Given the description of an element on the screen output the (x, y) to click on. 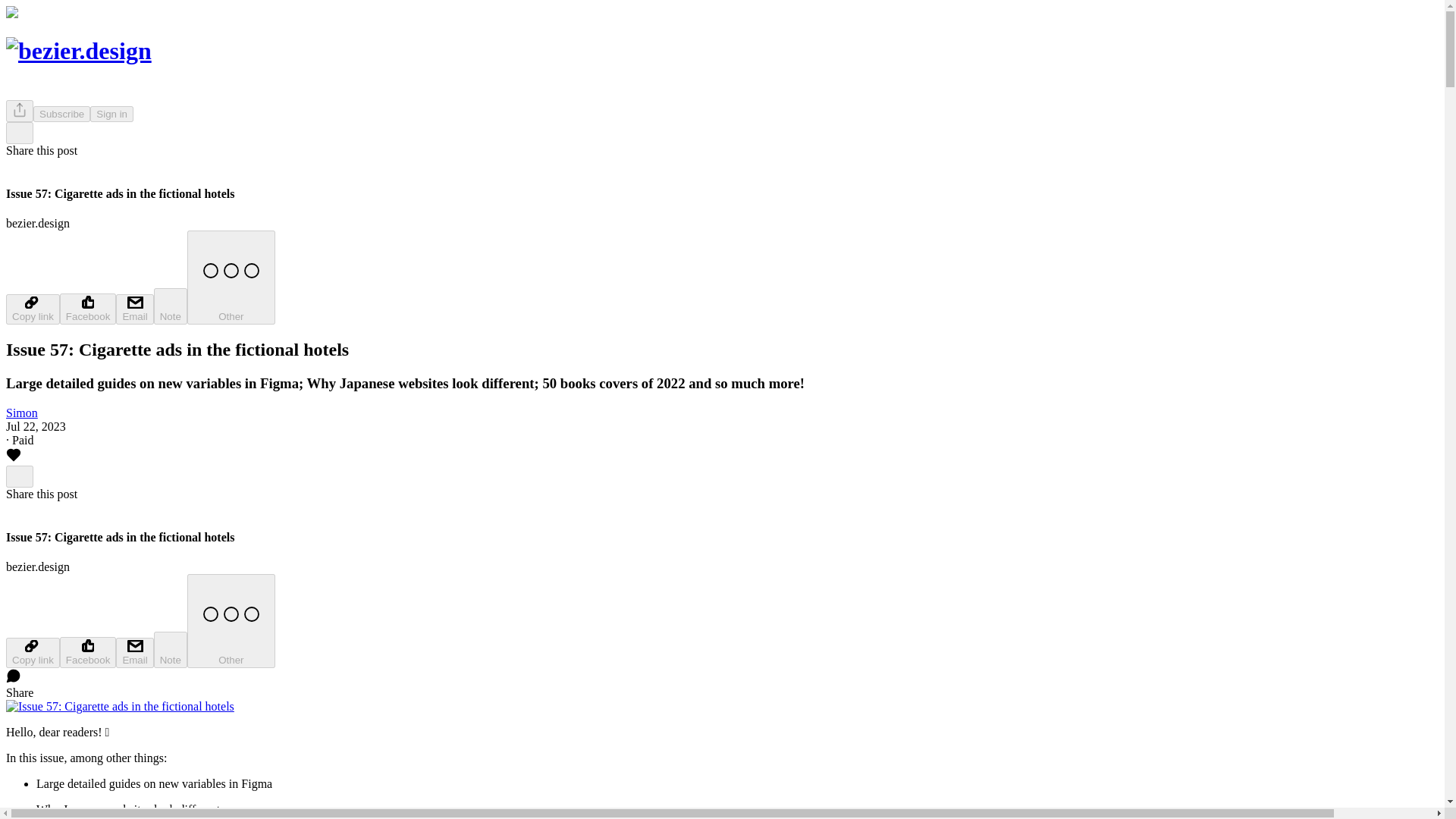
Note (170, 649)
Sign in (111, 114)
Other (231, 277)
Note (170, 306)
Copy link (32, 309)
Simon (21, 412)
Copy link (32, 653)
Email (134, 653)
Subscribe (61, 114)
Issue 57: Cigarette ads in the fictional hotels (119, 706)
Facebook (87, 652)
Email (134, 309)
Other (231, 621)
Facebook (87, 308)
